Given the description of an element on the screen output the (x, y) to click on. 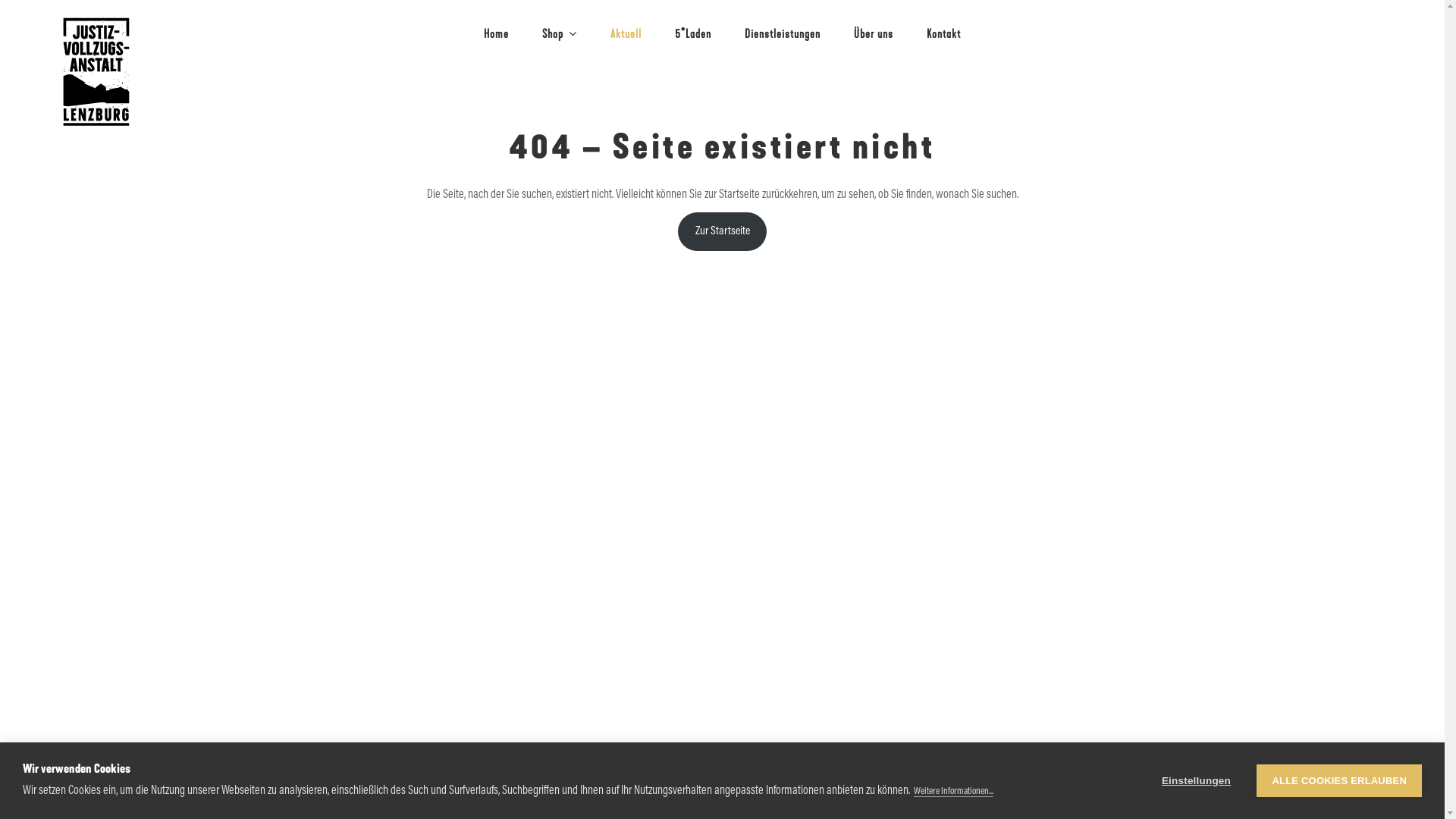
Einstellungen Element type: text (1195, 780)
Weitere Informationen... Element type: text (953, 791)
Impressum Element type: text (681, 794)
Shop Element type: text (559, 34)
Zur Startseite Element type: text (722, 231)
Kontakt Element type: text (943, 34)
5*Laden Element type: text (693, 34)
Dienstleistungen Element type: text (782, 34)
AGB Element type: text (719, 794)
Datenschutz Element type: text (761, 794)
ALLE COOKIES ERLAUBEN Element type: text (1338, 780)
Home Element type: text (496, 34)
Aktuell Element type: text (625, 34)
